Given the description of an element on the screen output the (x, y) to click on. 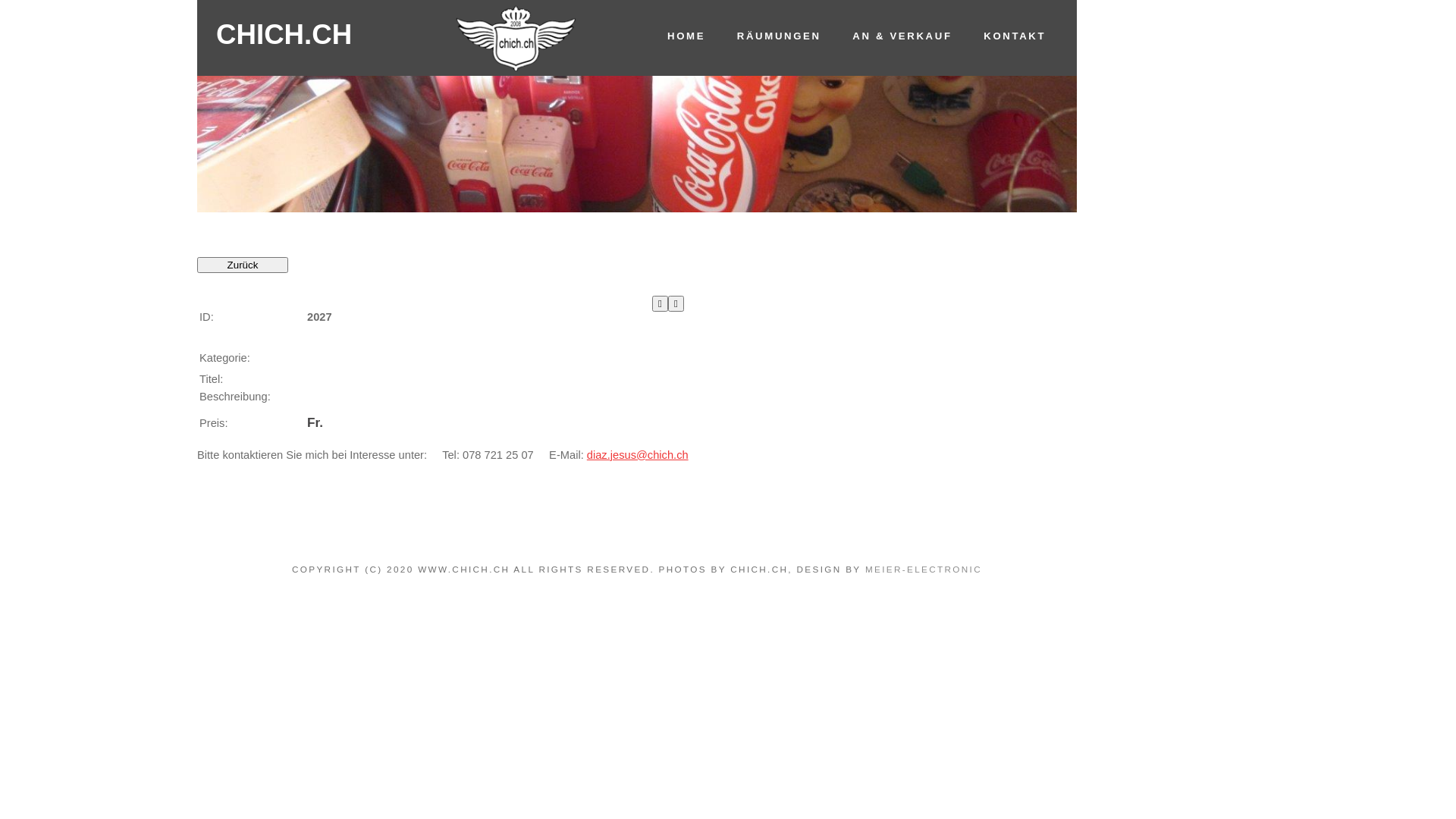
MEIER-ELECTRONIC Element type: text (923, 569)
KONTAKT Element type: text (1014, 36)
AN & VERKAUF Element type: text (902, 36)
HOME Element type: text (686, 36)
diaz.jesus@chich.ch Element type: text (637, 454)
CHICH.CH Element type: text (283, 40)
